Given the description of an element on the screen output the (x, y) to click on. 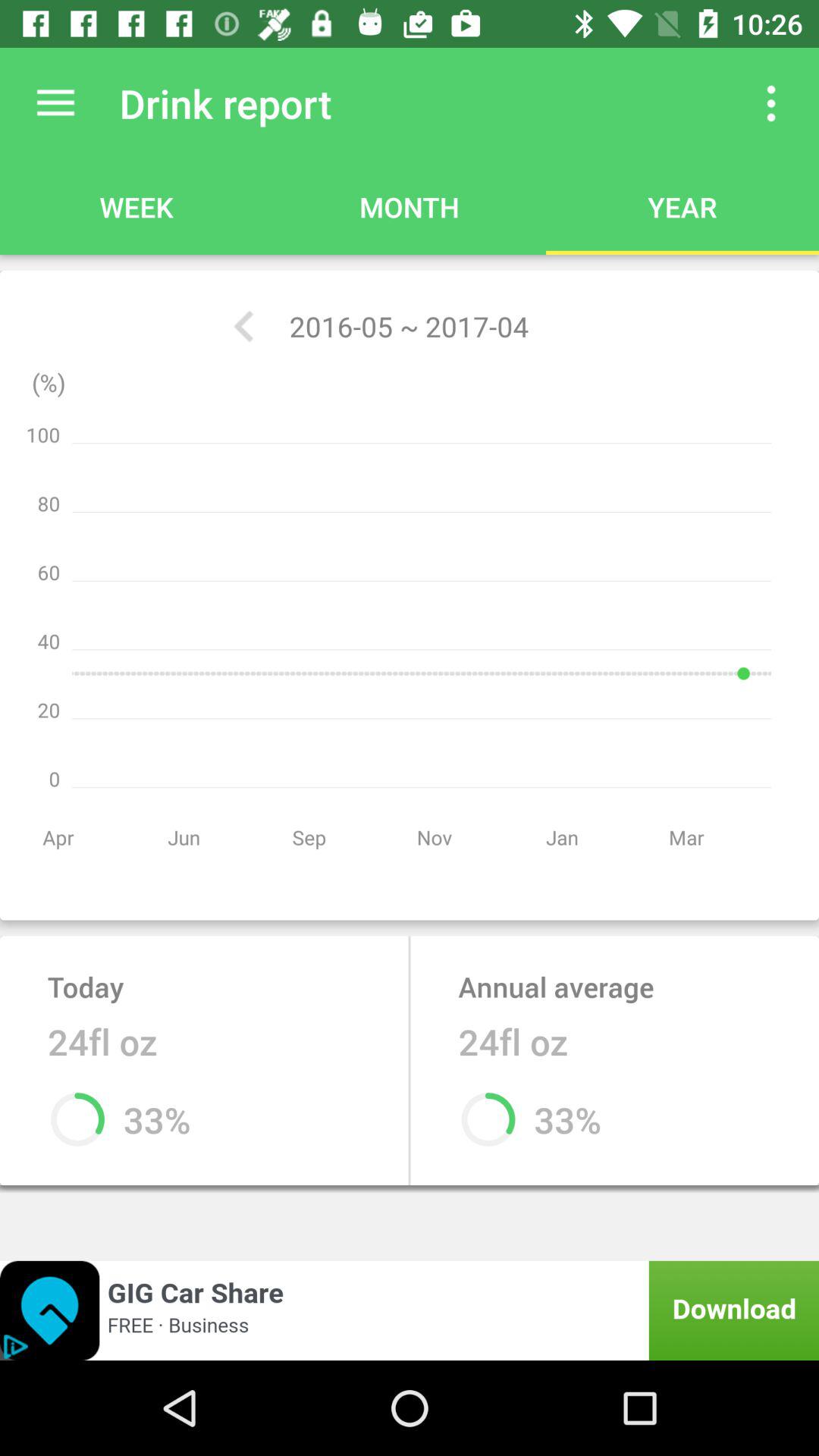
turn off the icon to the left of the drink report item (55, 103)
